Given the description of an element on the screen output the (x, y) to click on. 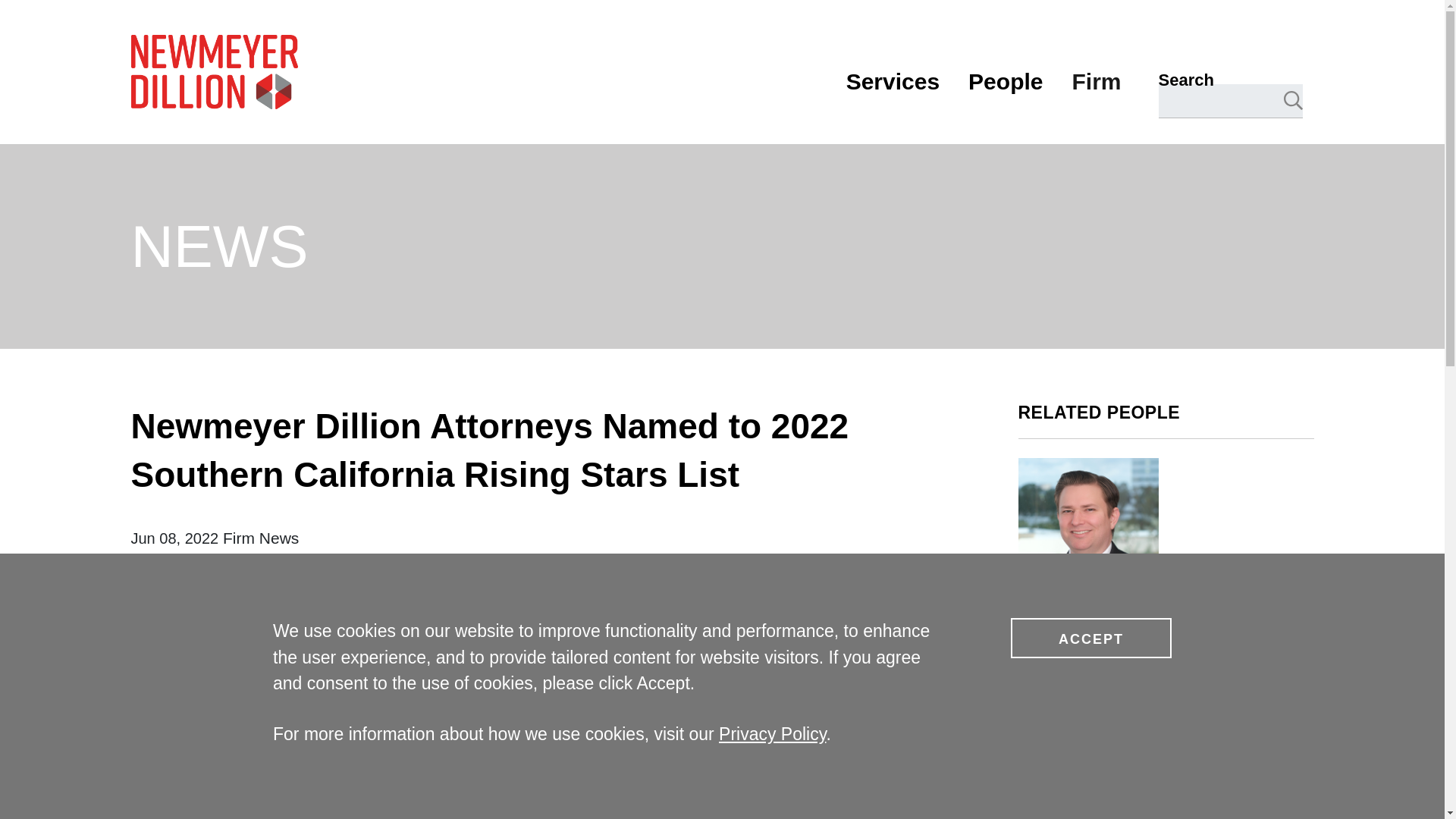
ACCEPT (1091, 638)
People (1005, 81)
Type a search keyword (1230, 100)
Services (892, 81)
Privacy Policy (772, 732)
